Given the description of an element on the screen output the (x, y) to click on. 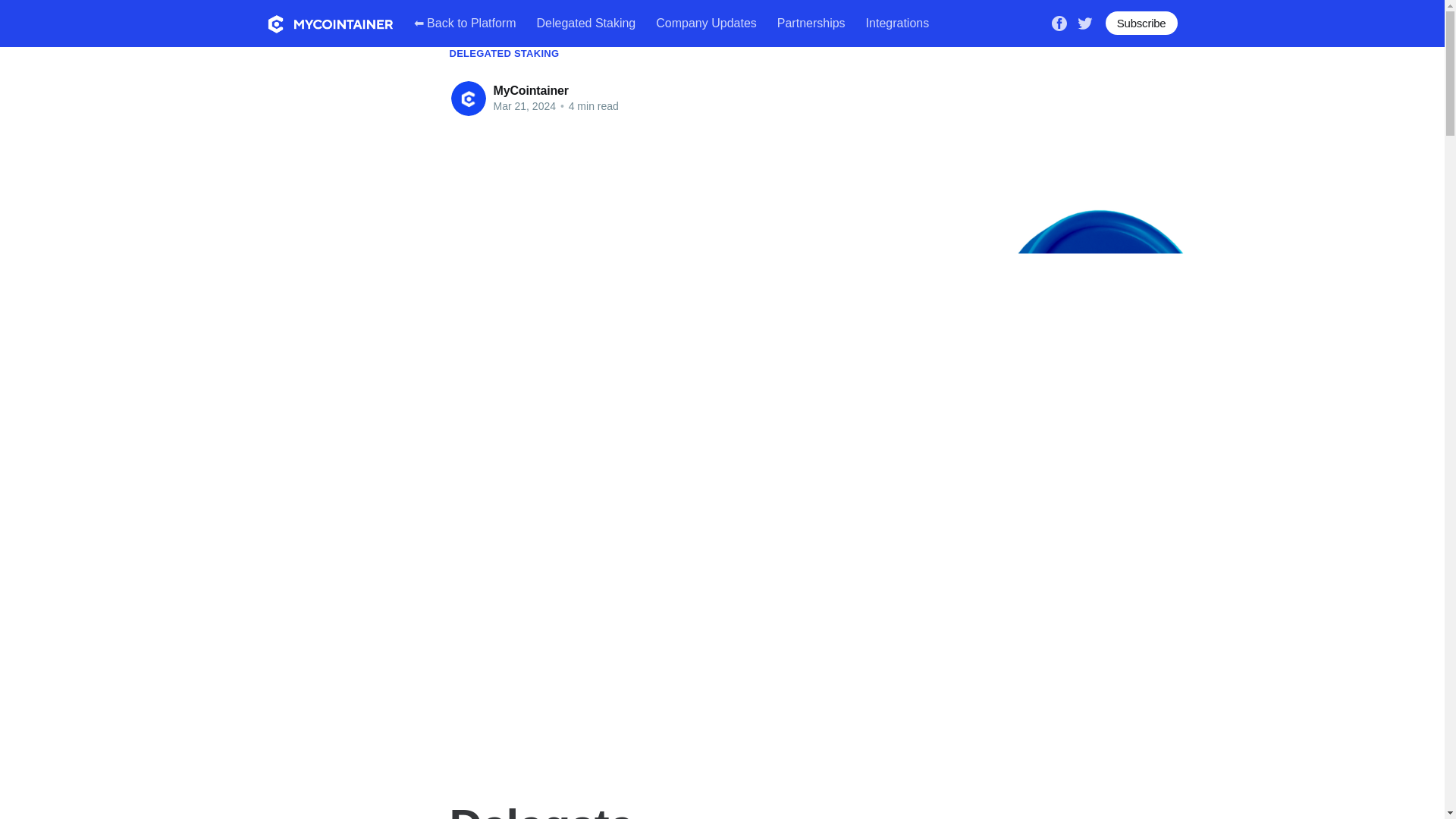
Company Updates (706, 22)
Partnerships (811, 22)
MyCointainer (530, 90)
Subscribe (1141, 23)
Facebook (1059, 21)
Twitter (1085, 21)
Delegated Staking (586, 22)
Integrations (898, 22)
DELEGATED STAKING (503, 53)
